Given the description of an element on the screen output the (x, y) to click on. 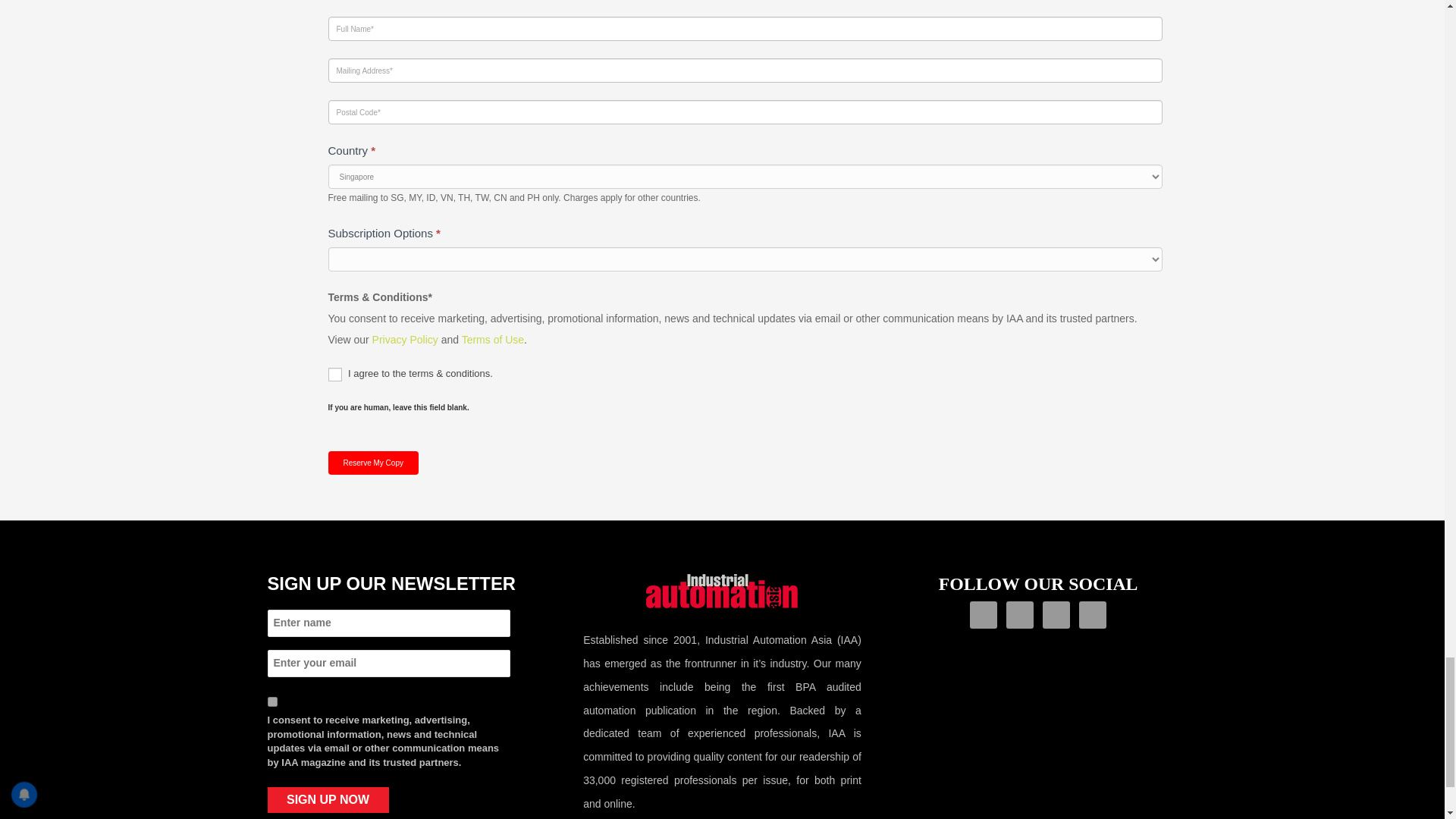
SIGN UP NOW (327, 800)
true (271, 701)
